Given the description of an element on the screen output the (x, y) to click on. 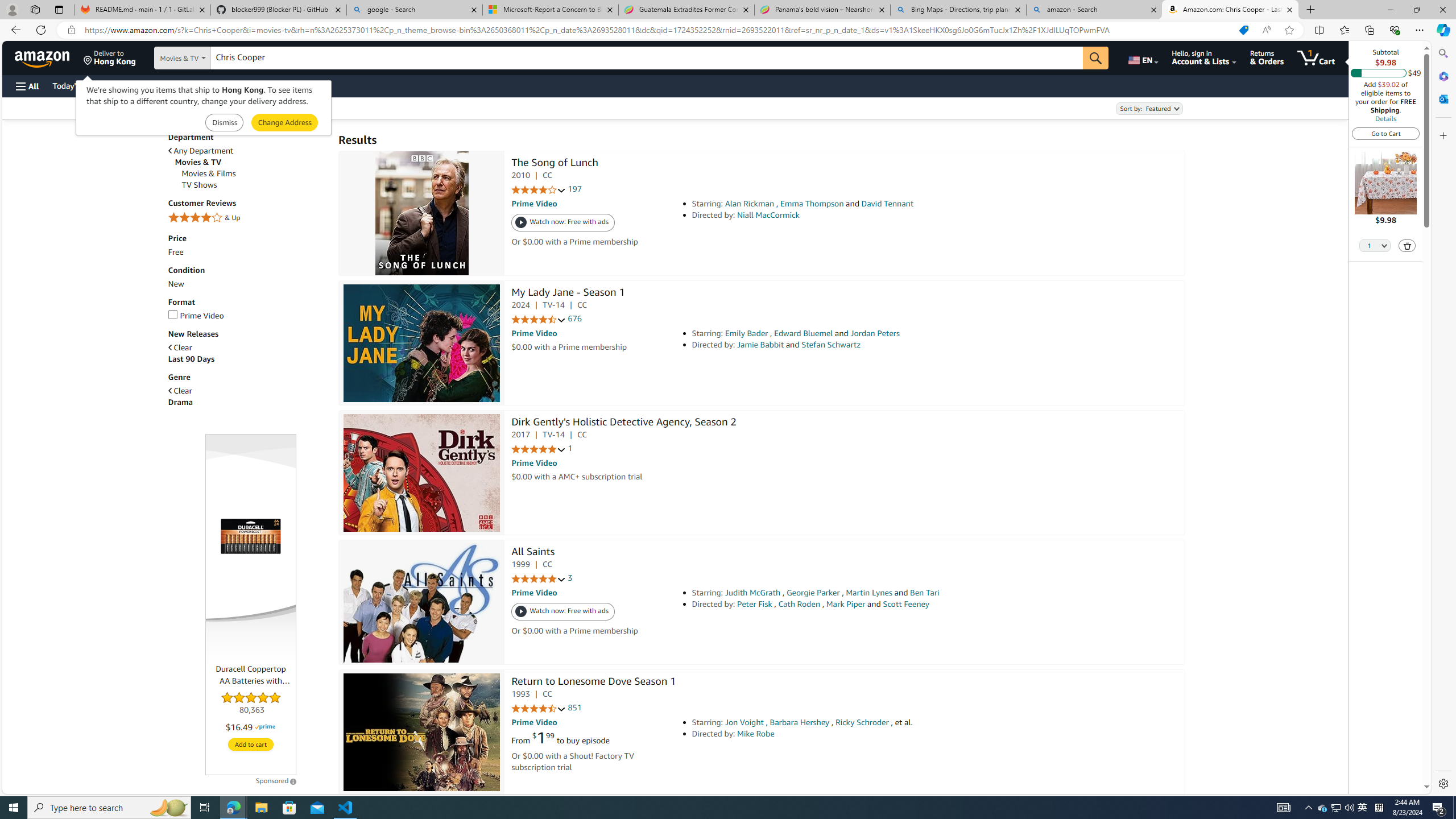
Clear (247, 390)
Product image (251, 536)
From $1.99 to buy episode (560, 738)
Dismiss (224, 122)
Peter Fisk (753, 603)
Directed by: Niall MacCormick (850, 215)
Cath Roden (799, 603)
Mike Robe (755, 733)
676 (574, 318)
197 (574, 189)
